Given the description of an element on the screen output the (x, y) to click on. 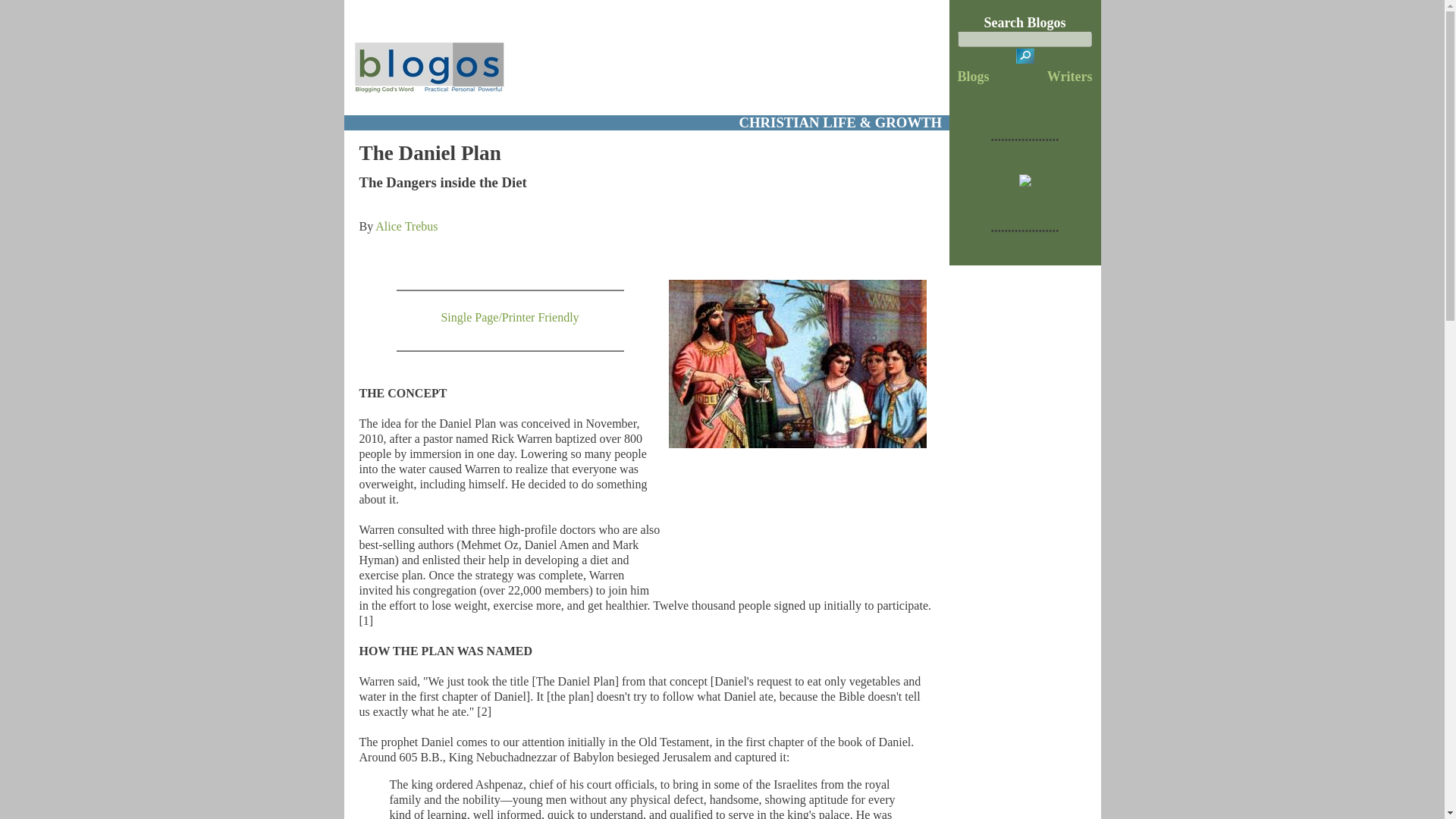
Alice Trebus (406, 226)
Blogs (974, 76)
Writers (1069, 76)
Subscribe Christian Life and Growth (1024, 181)
